Given the description of an element on the screen output the (x, y) to click on. 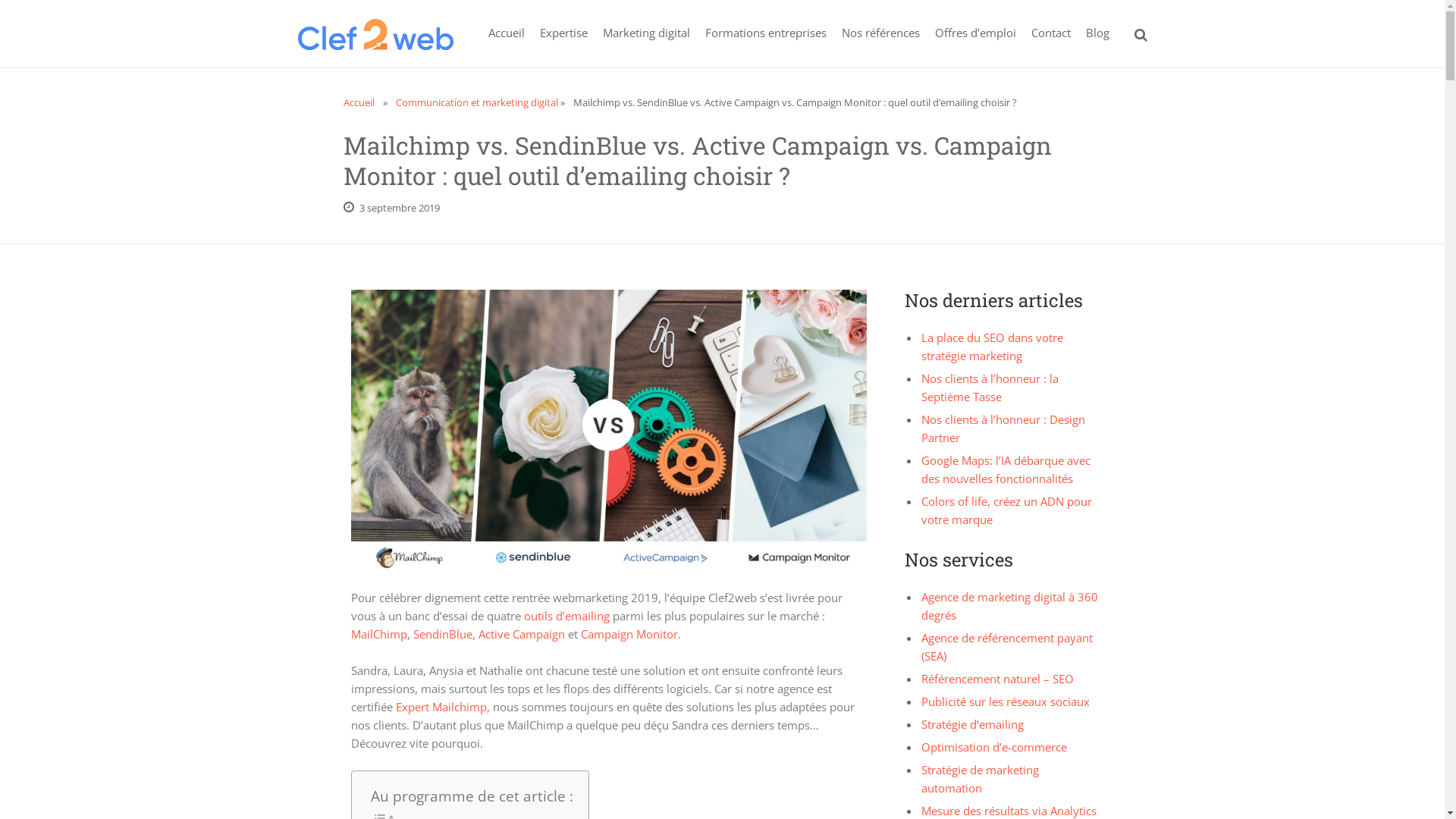
Expert Mailchimp Element type: text (440, 706)
Accueil Element type: text (357, 102)
SendinBlue Element type: text (441, 633)
MailChimp Element type: text (378, 633)
Active Campaign Element type: text (520, 633)
Campaign Monitor Element type: text (628, 633)
Communication et marketing digital Element type: text (476, 102)
